Given the description of an element on the screen output the (x, y) to click on. 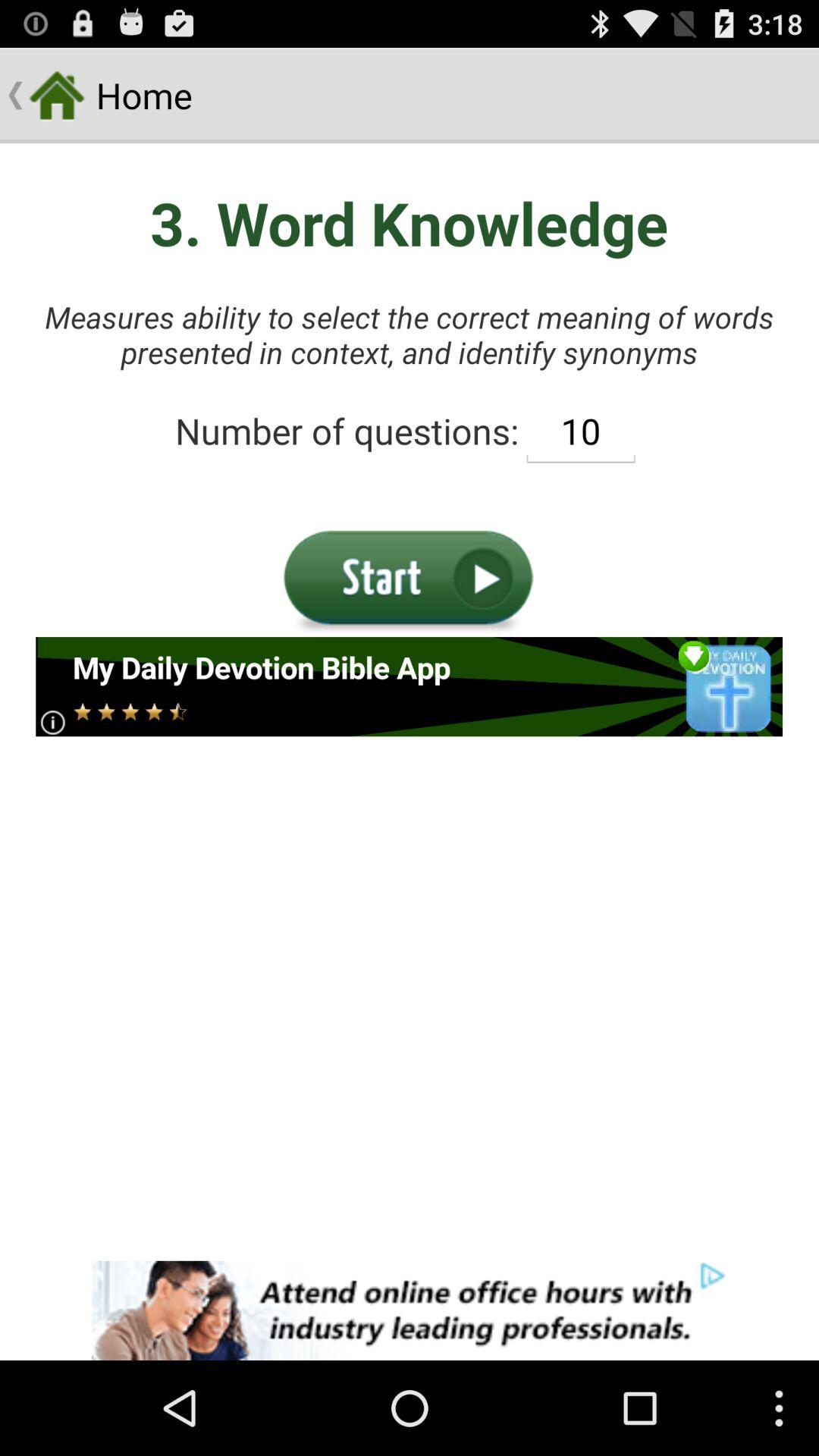
view the advertisement (408, 686)
